Given the description of an element on the screen output the (x, y) to click on. 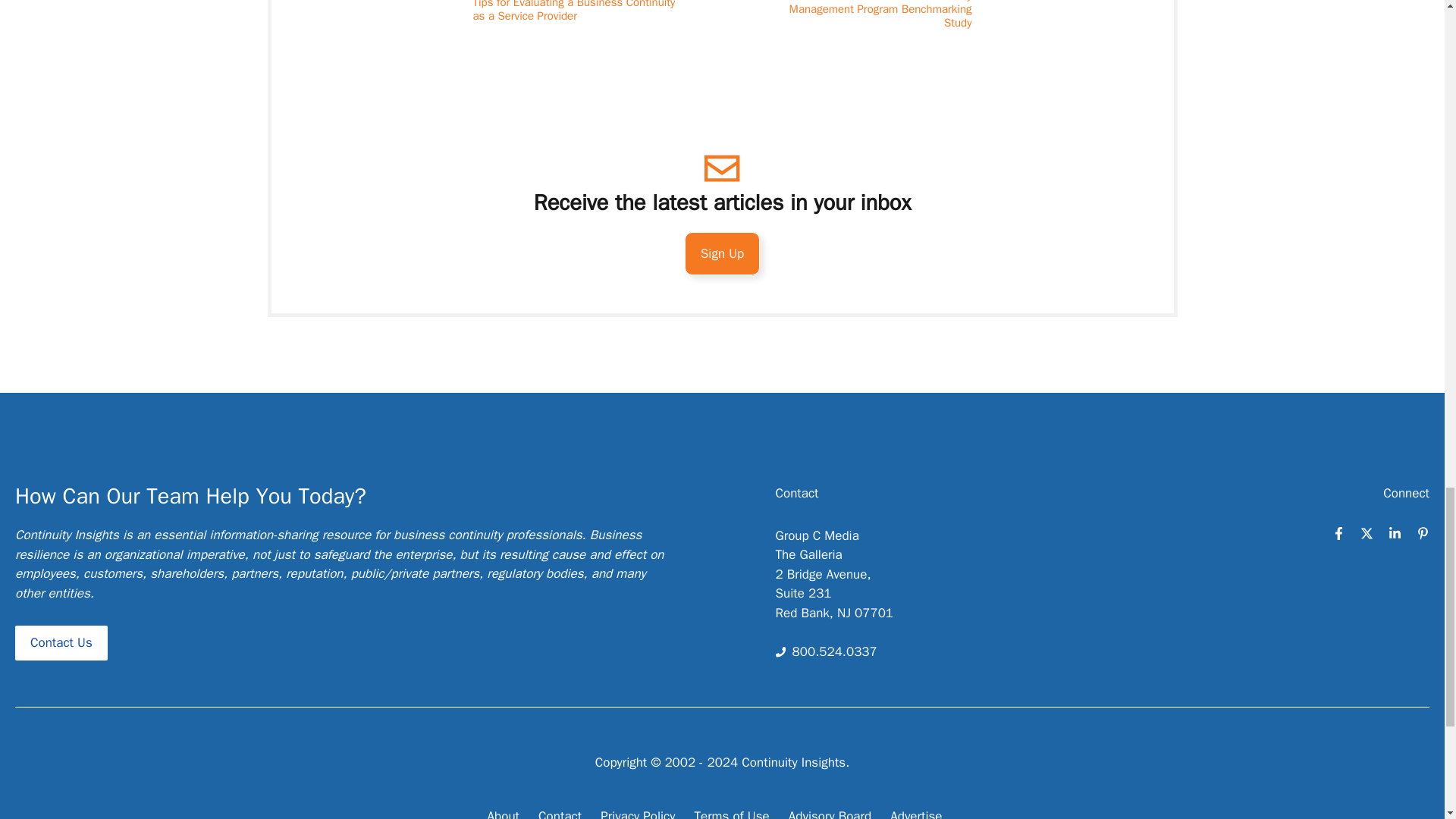
Sign Up (722, 253)
